Given the description of an element on the screen output the (x, y) to click on. 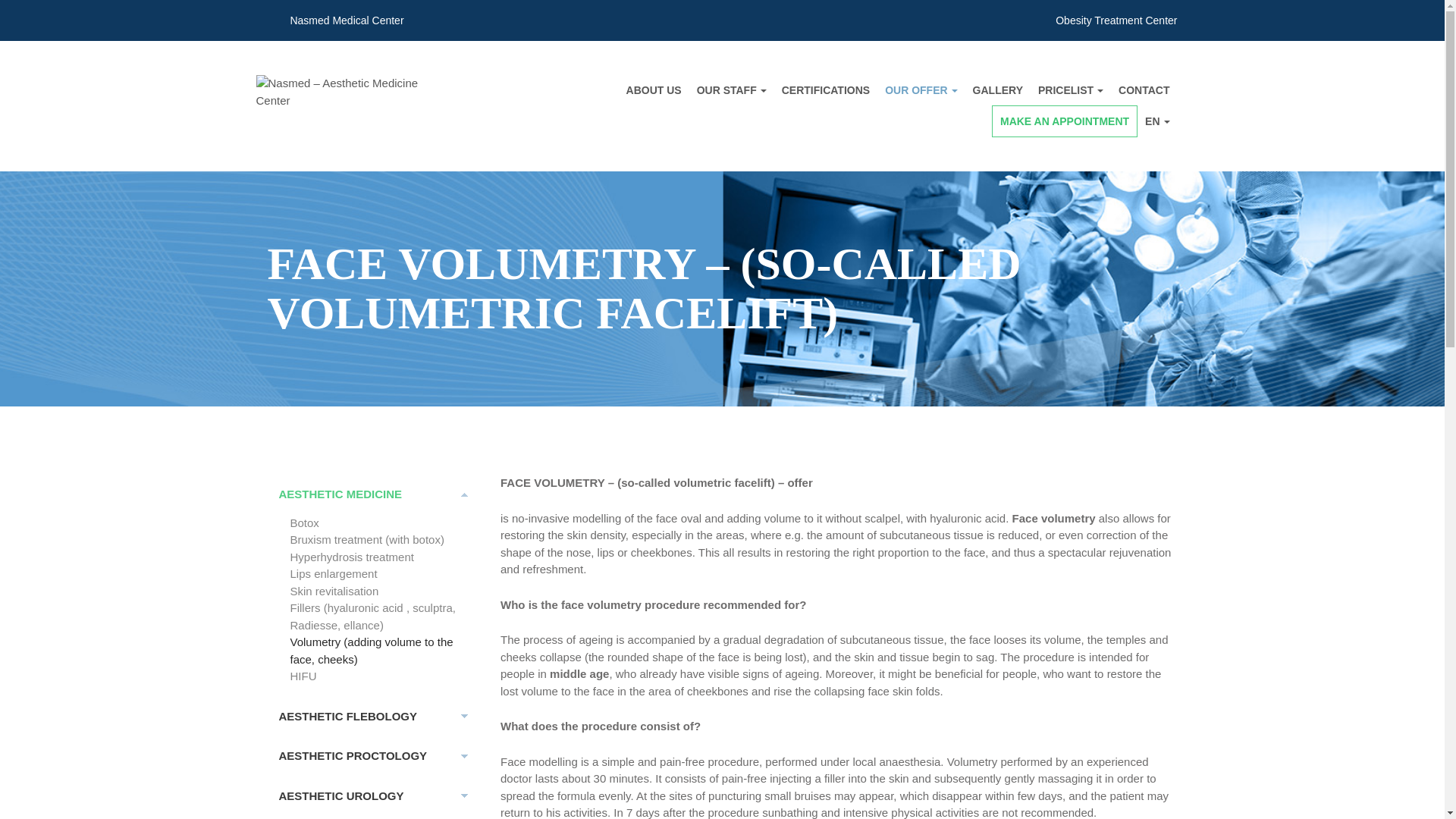
CONTACT (1143, 90)
Lips enlargement (379, 574)
ABOUT US (653, 90)
EN (1156, 121)
OUR STAFF (731, 90)
PRICELIST (1070, 90)
Skin revitalisation (379, 590)
GALLERY (997, 90)
Nasmed Medical Center (334, 20)
AESTHETIC MEDICINE (371, 495)
Obesity Treatment Center (1104, 20)
OUR OFFER (920, 90)
Nasmed Medical Center (334, 20)
Botox (379, 522)
CERTIFICATIONS (825, 90)
